Given the description of an element on the screen output the (x, y) to click on. 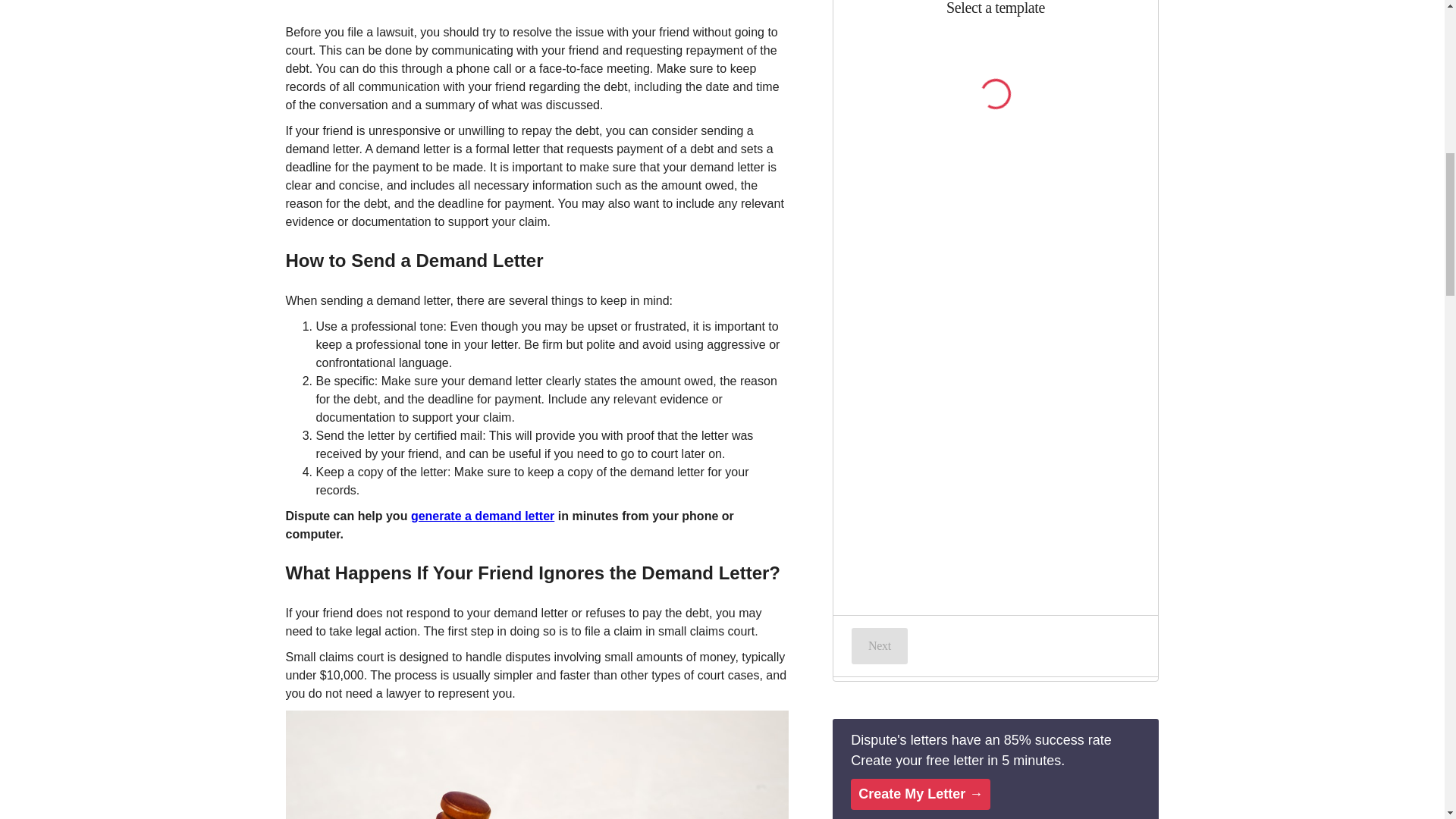
generate a demand letter (482, 515)
